Given the description of an element on the screen output the (x, y) to click on. 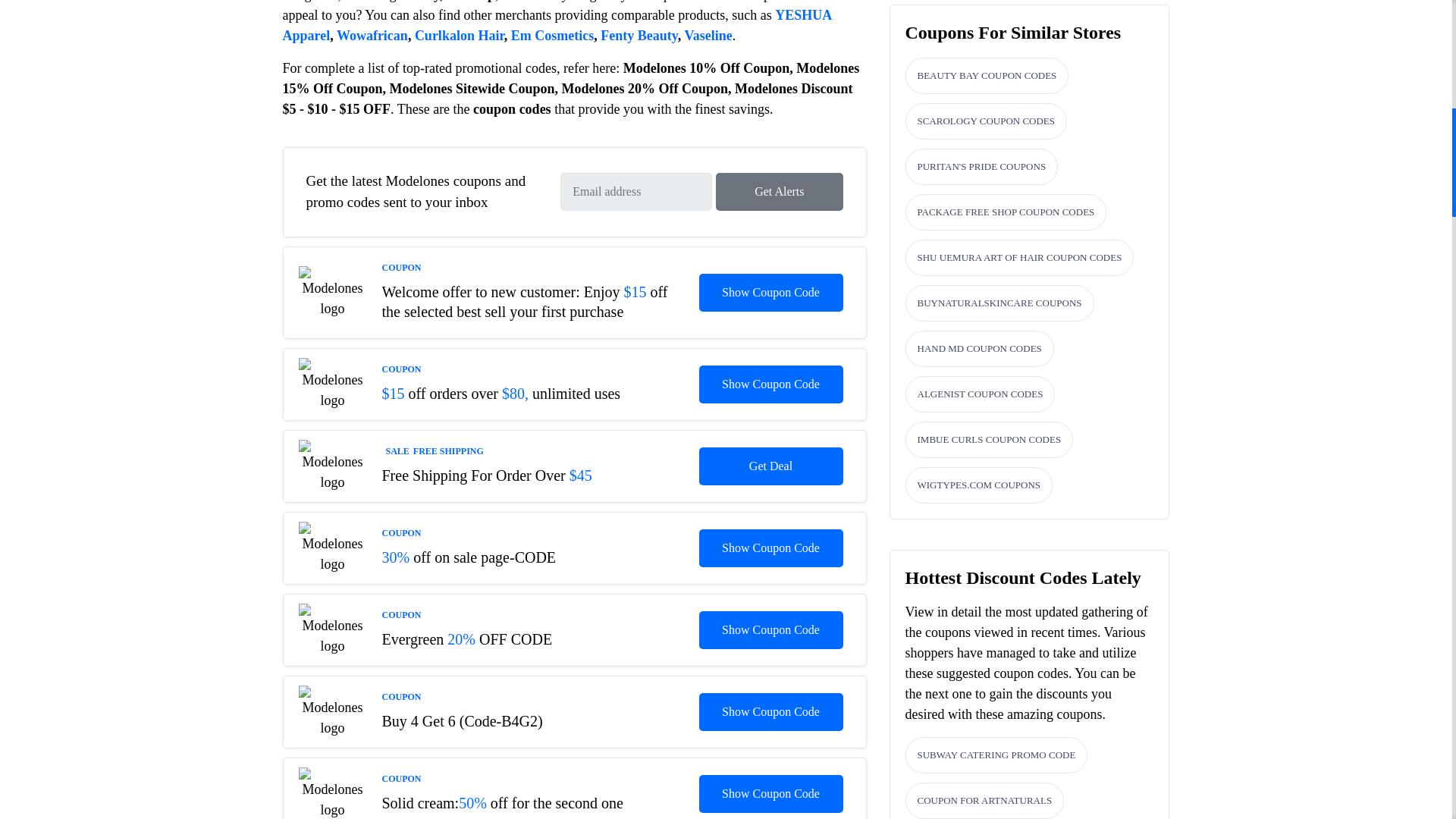
Fenty Beauty (638, 35)
Em Cosmetics (552, 35)
Wowafrican (371, 35)
Fenty Beauty (638, 35)
Show Coupon Code (770, 548)
Show Coupon Code (770, 629)
Vaseline (708, 35)
Get Alerts (779, 191)
Curlkalon Hair (458, 35)
Show Coupon Code (770, 711)
